Given the description of an element on the screen output the (x, y) to click on. 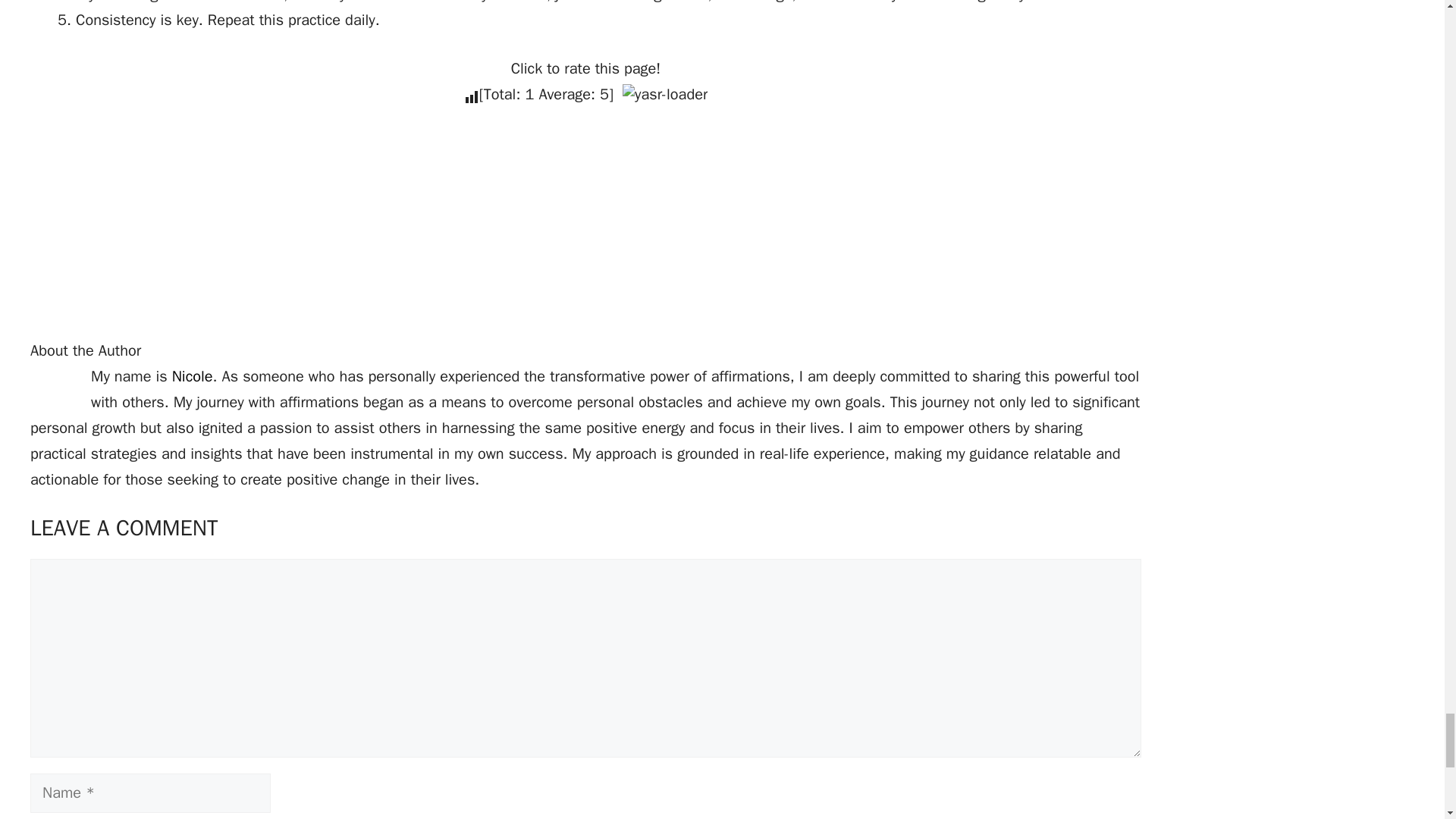
yasr-loader (665, 94)
